Given the description of an element on the screen output the (x, y) to click on. 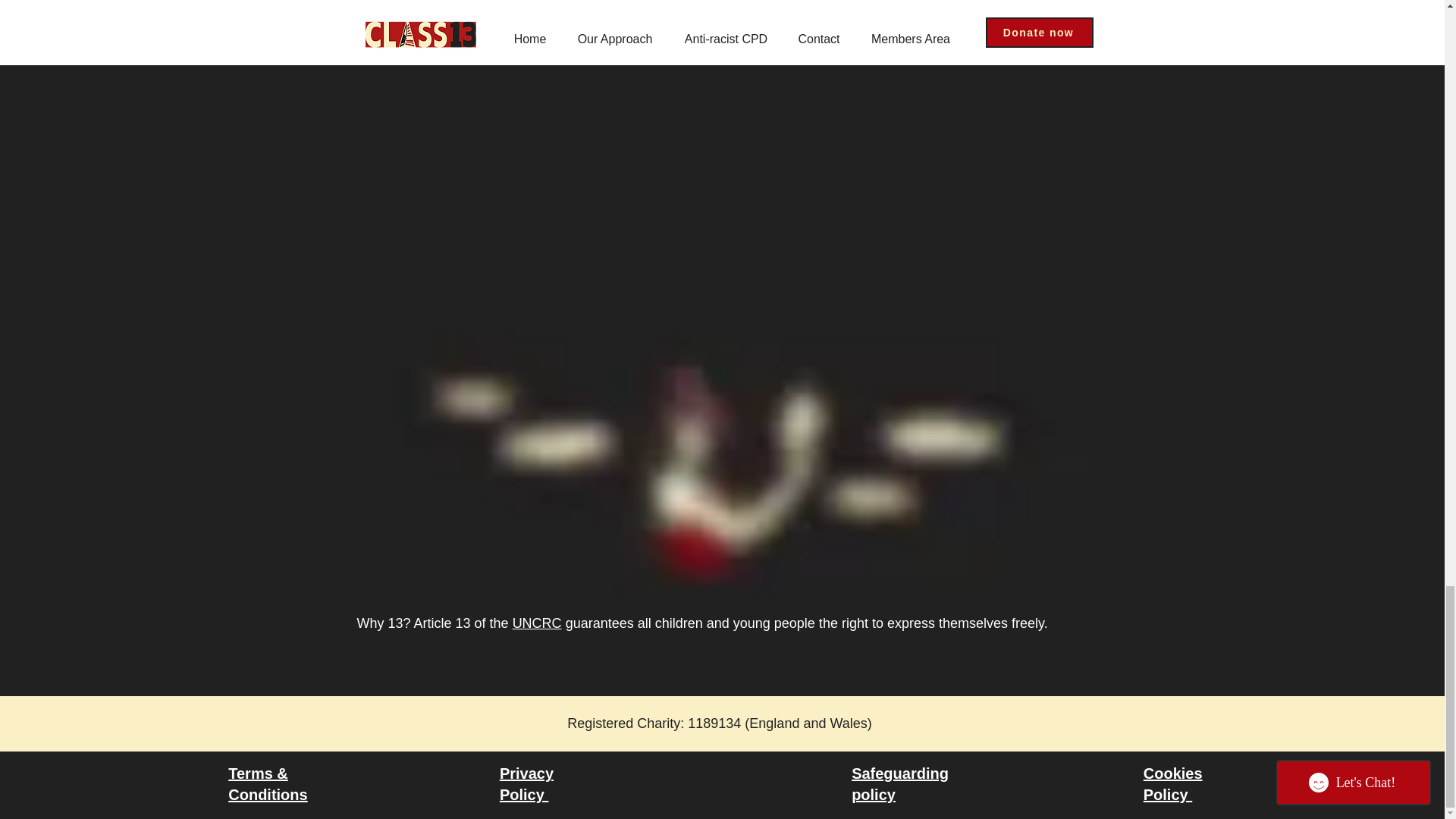
UNCRC (537, 622)
Safeguarding policy (900, 783)
